Given the description of an element on the screen output the (x, y) to click on. 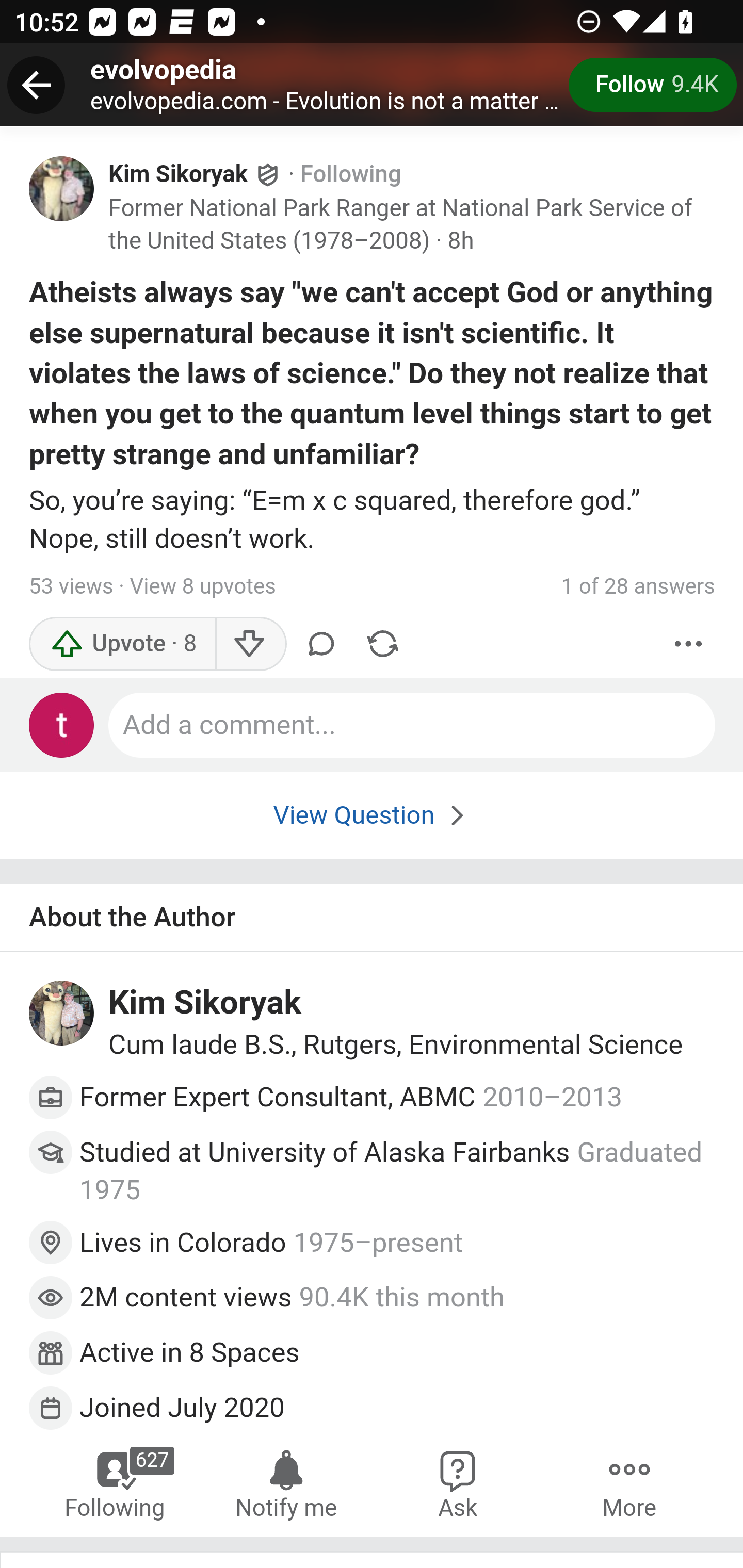
evolvopedia (164, 68)
Follow 9.4K (652, 85)
Profile photo for Kim Sikoryak (61, 188)
Kim Sikoryak (178, 174)
Following (350, 174)
View 8 upvotes (201, 586)
1 of 28 answers (637, 586)
Upvote (122, 642)
Downvote (249, 642)
Comment (321, 642)
Share (382, 642)
More (688, 642)
Profile photo for Test Appium (61, 724)
Add a comment... (412, 724)
View Question (371, 814)
Profile photo for Kim Sikoryak (61, 1013)
Kim Sikoryak (204, 1003)
Following Kim Sikoryak 627 Following (115, 1483)
Notify me (285, 1483)
Ask (458, 1483)
More (628, 1483)
